Given the description of an element on the screen output the (x, y) to click on. 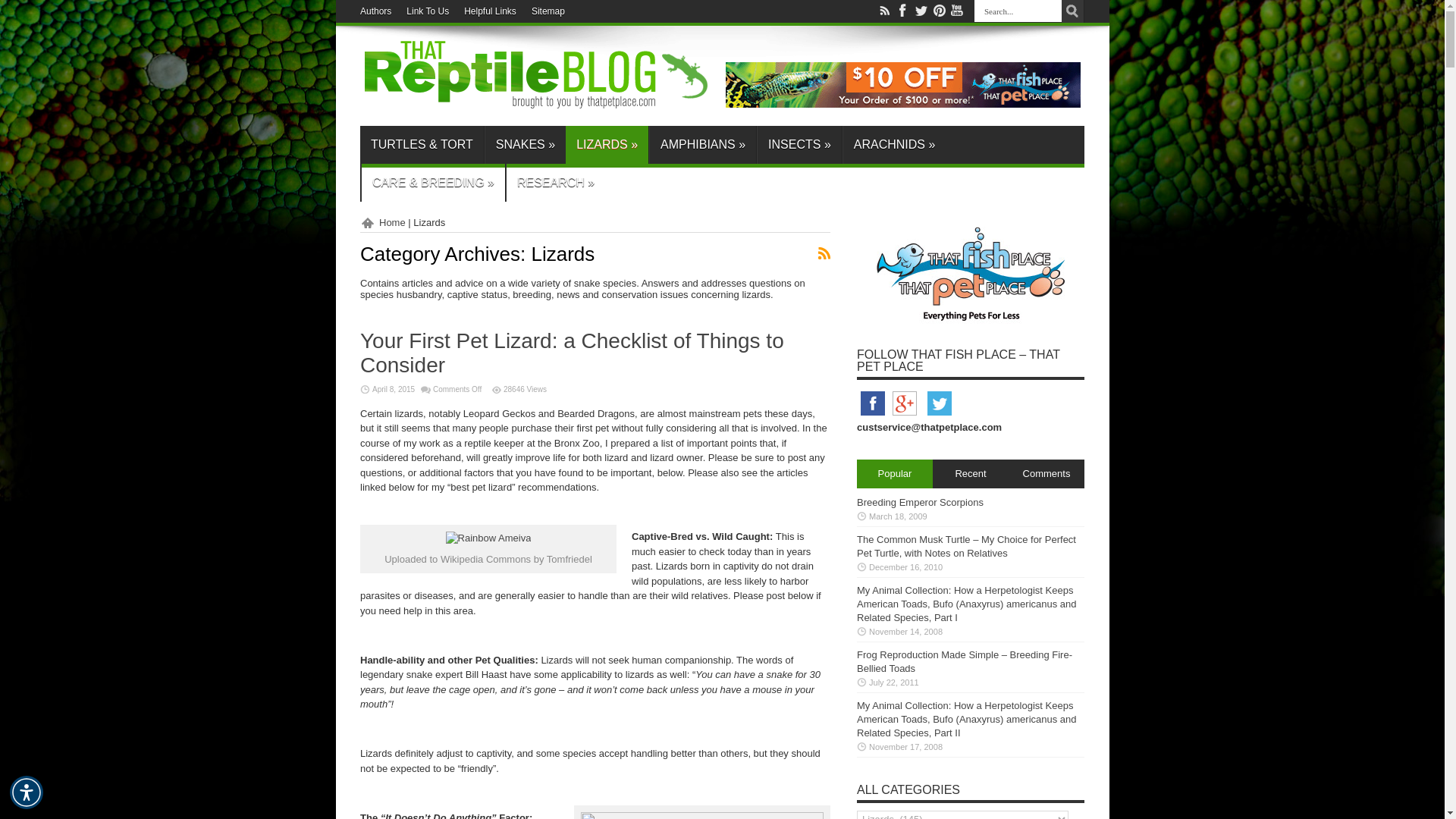
Sitemap (547, 11)
Accessibility Menu (26, 792)
Authors (375, 11)
Search (1072, 11)
Search (1072, 11)
Search (1072, 11)
Link To Us (427, 11)
Helpful Links (490, 11)
Search... (1017, 11)
That Reptile Blog (536, 103)
